Given the description of an element on the screen output the (x, y) to click on. 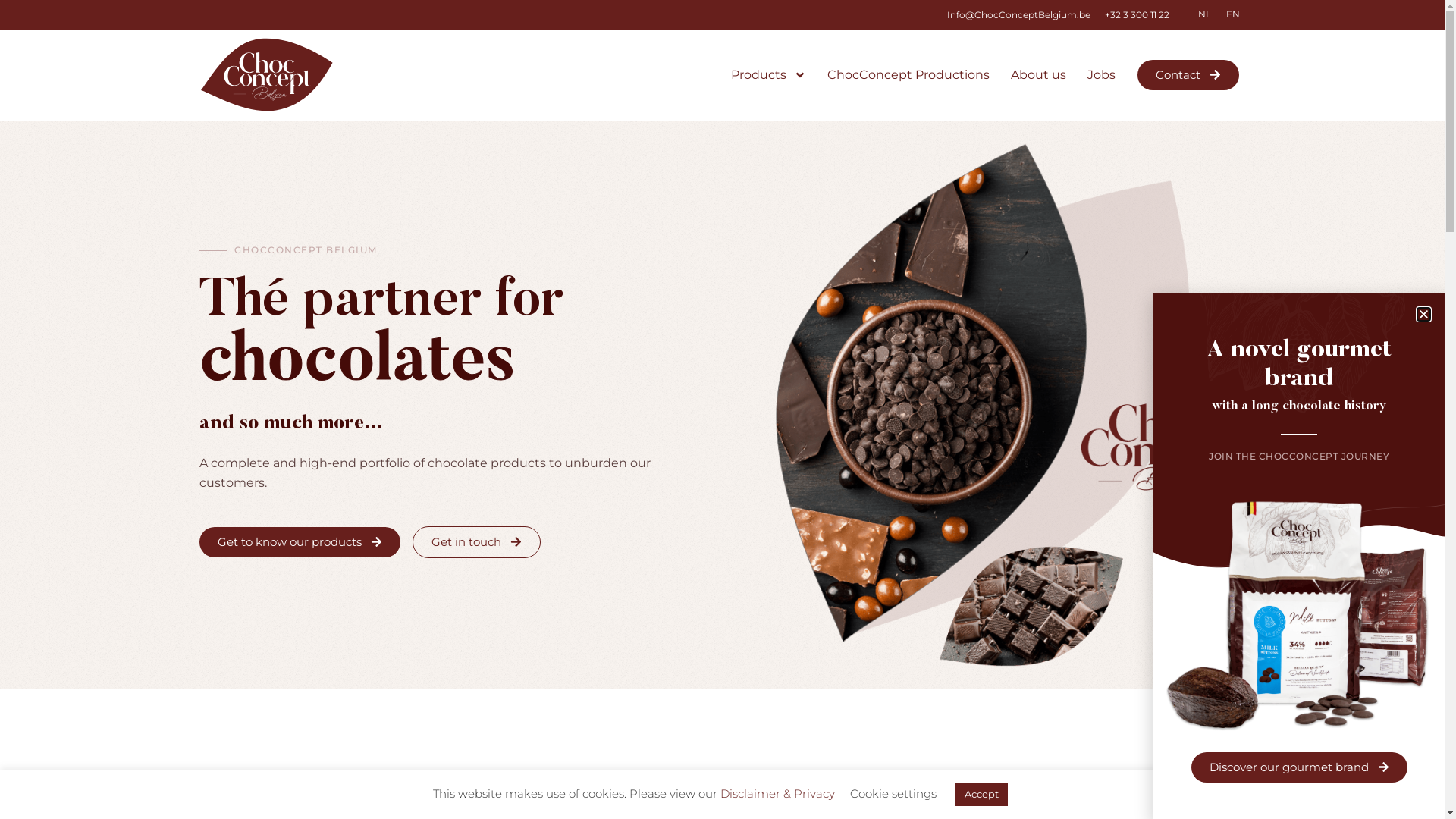
Discover our gourmet brand Element type: text (1298, 767)
Get to know our products Element type: text (298, 542)
Info@ChocConceptBelgium.be Element type: text (1017, 15)
Products Element type: text (768, 74)
Get in touch Element type: text (476, 542)
+32 3 300 11 22 Element type: text (1136, 15)
Contact Element type: text (1188, 74)
About us Element type: text (1038, 74)
EN Element type: text (1231, 14)
Disclaimer & Privacy Element type: text (777, 793)
ChocConcept Productions Element type: text (908, 74)
Cookie settings Element type: text (893, 793)
Jobs Element type: text (1101, 74)
NL Element type: text (1204, 14)
Accept Element type: text (981, 794)
